Given the description of an element on the screen output the (x, y) to click on. 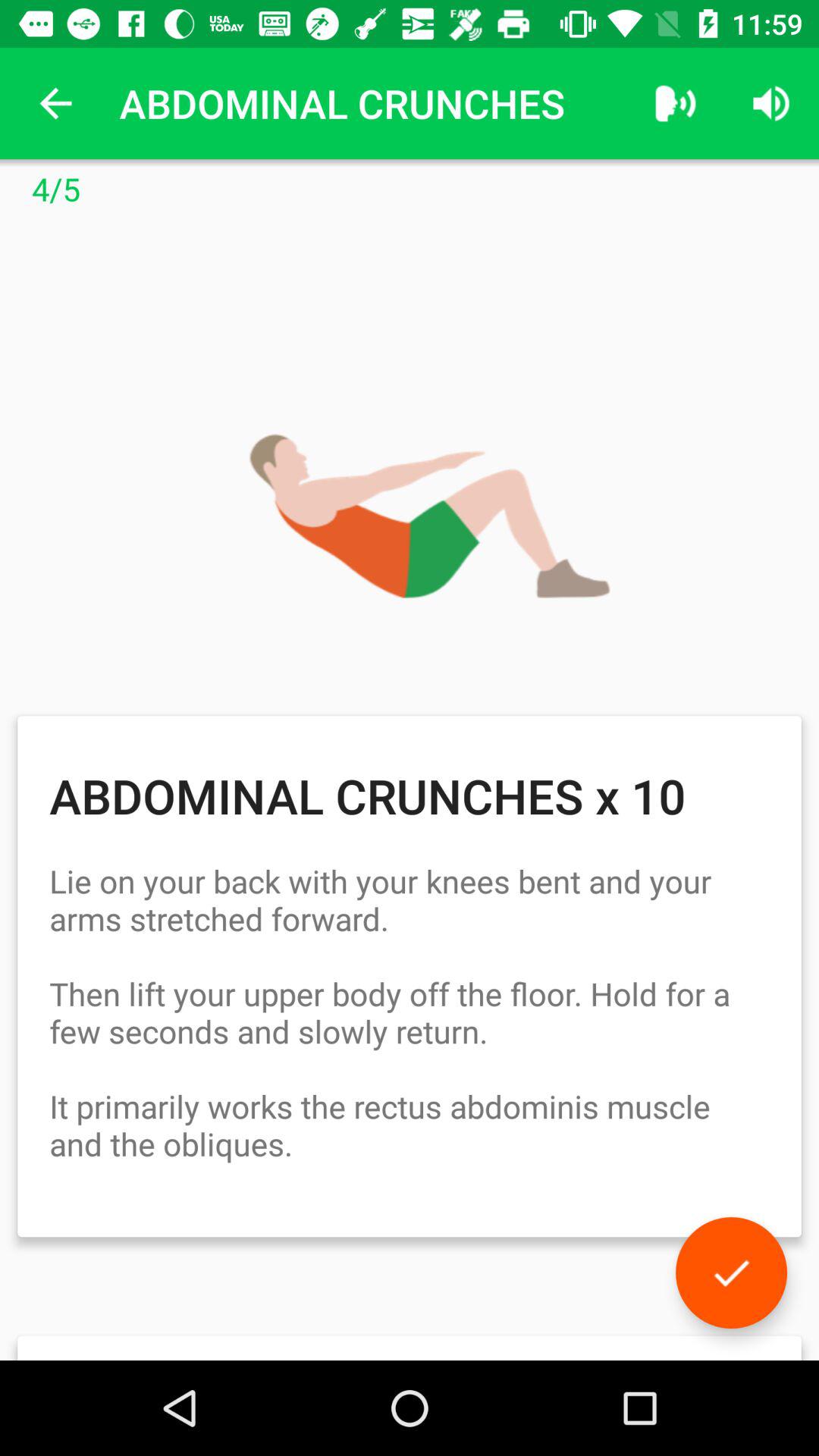
turn on icon below lie on your icon (731, 1272)
